Given the description of an element on the screen output the (x, y) to click on. 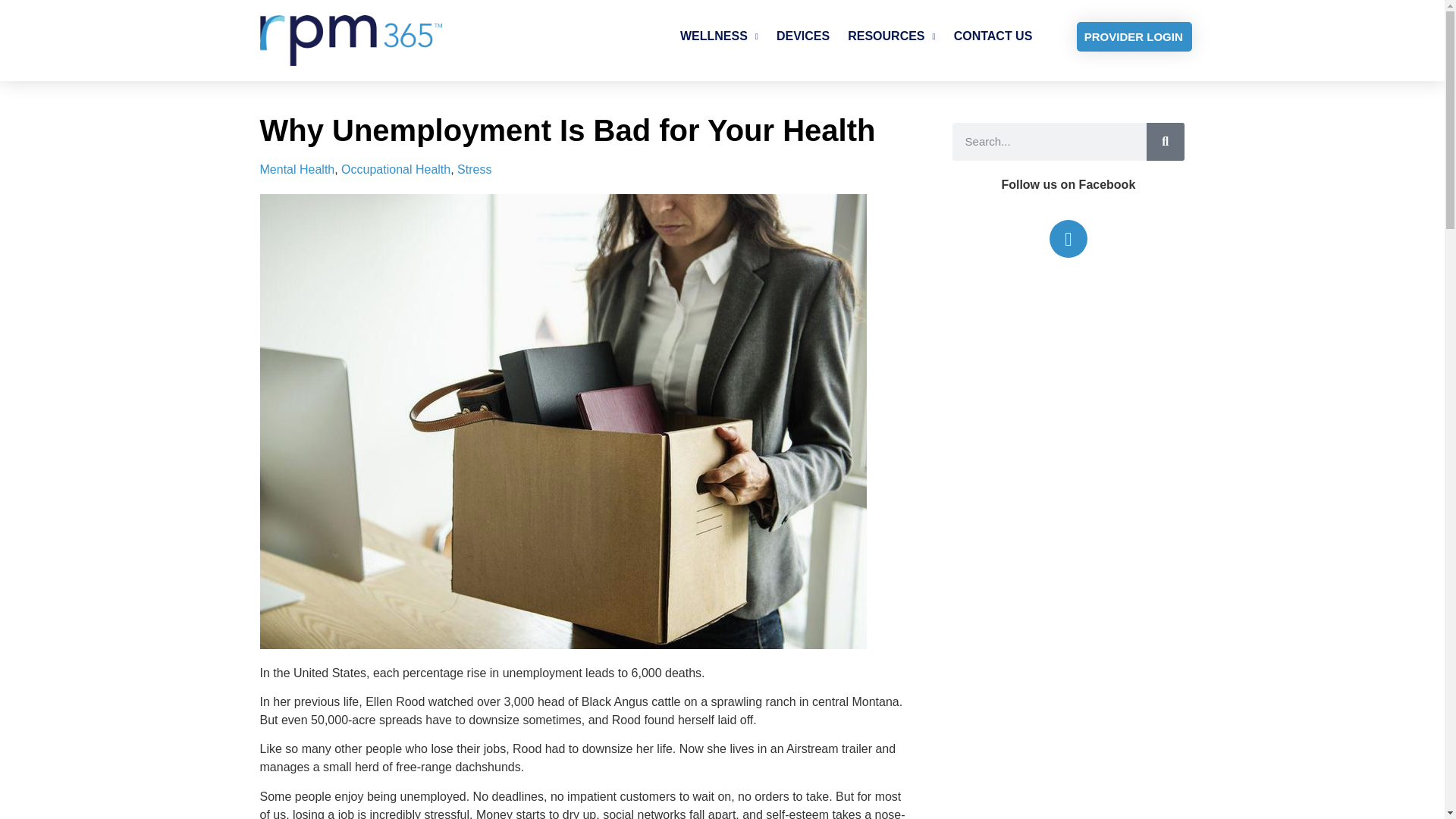
Stress (474, 169)
Occupational Health (394, 169)
WELLNESS (719, 36)
CONTACT US (993, 36)
DEVICES (802, 36)
PROVIDER LOGIN (1134, 36)
Mental Health (296, 169)
RESOURCES (890, 36)
